Given the description of an element on the screen output the (x, y) to click on. 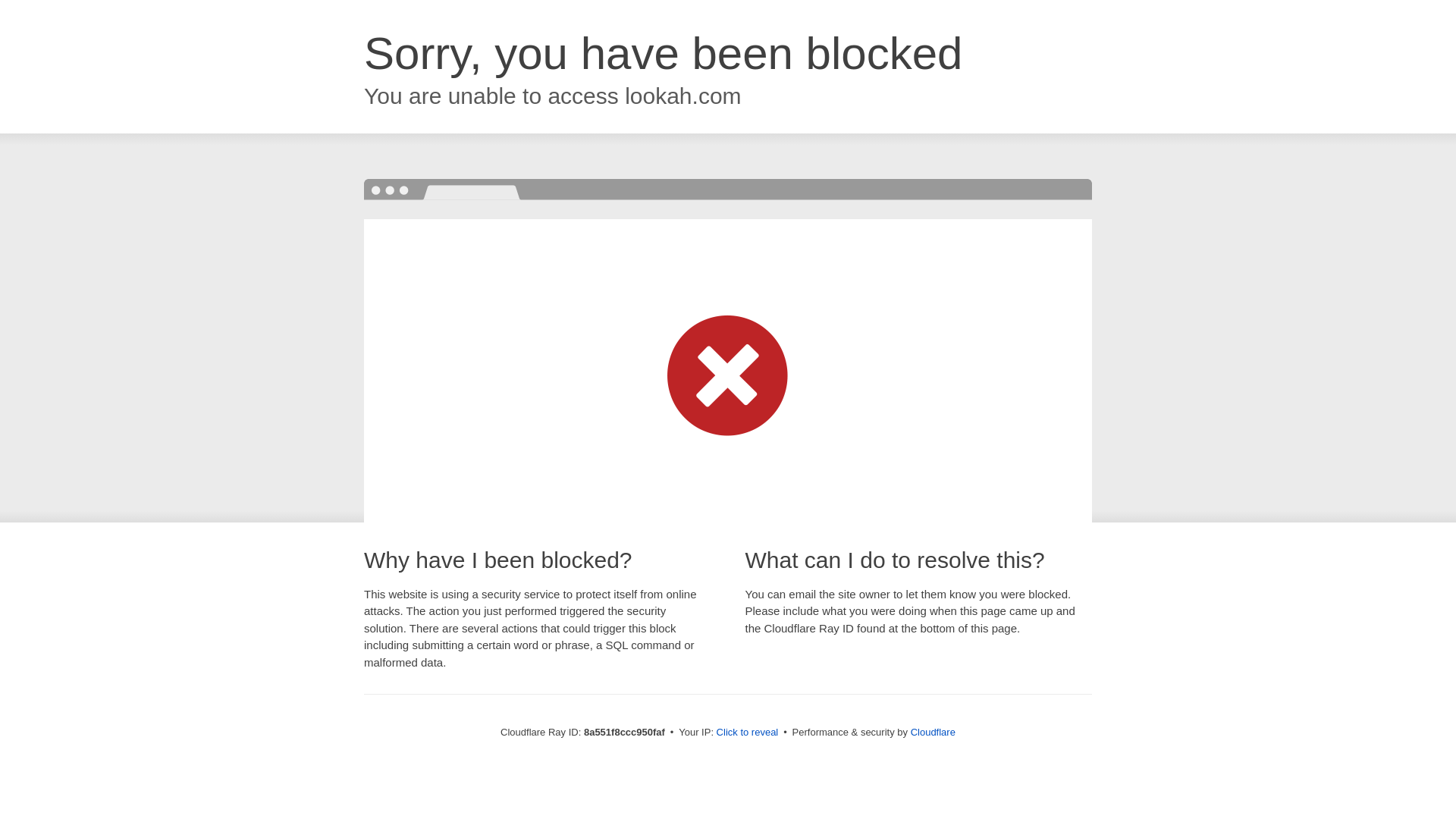
Cloudflare (933, 731)
Click to reveal (747, 732)
